Given the description of an element on the screen output the (x, y) to click on. 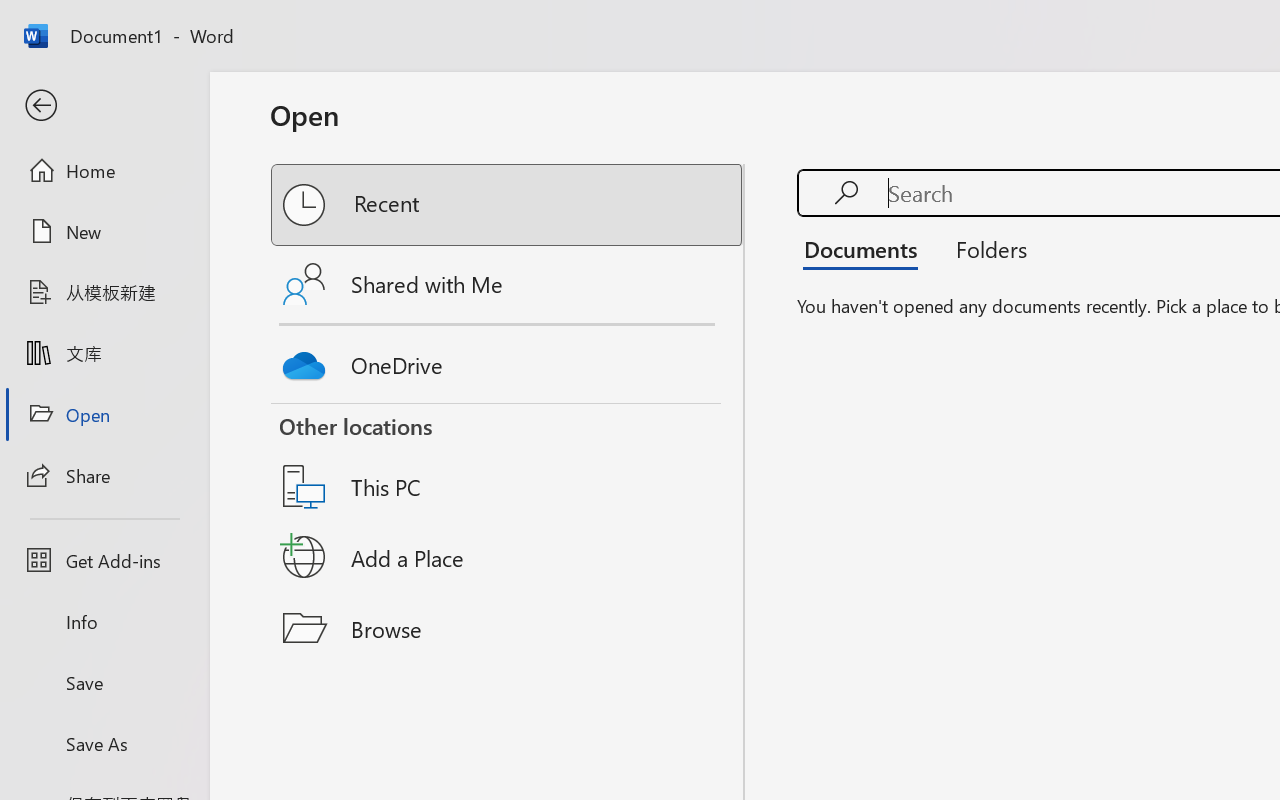
OneDrive (507, 359)
Recent (507, 205)
Info (104, 621)
Folders (984, 248)
